Given the description of an element on the screen output the (x, y) to click on. 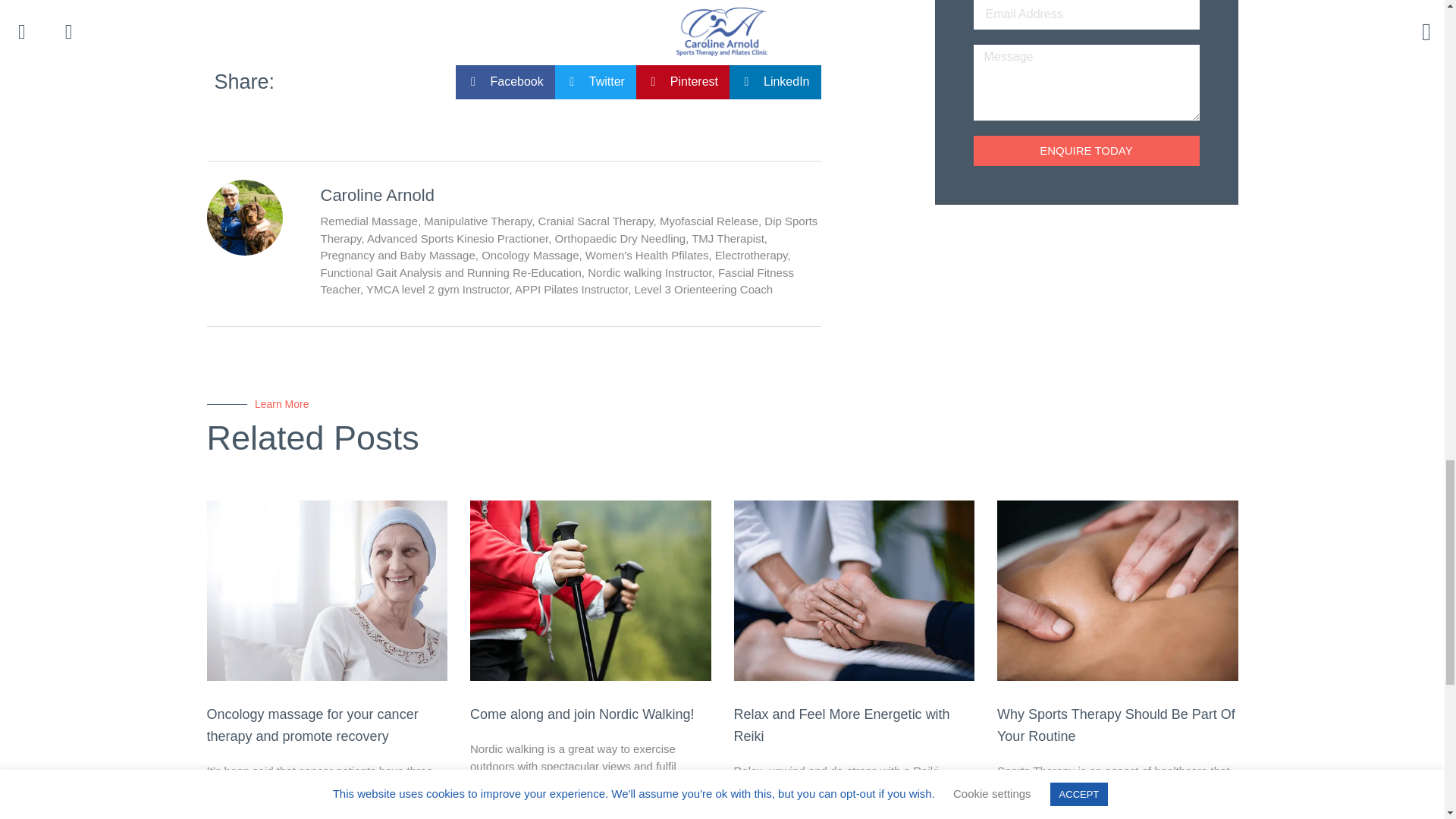
ENQUIRE TODAY (1086, 150)
